Given the description of an element on the screen output the (x, y) to click on. 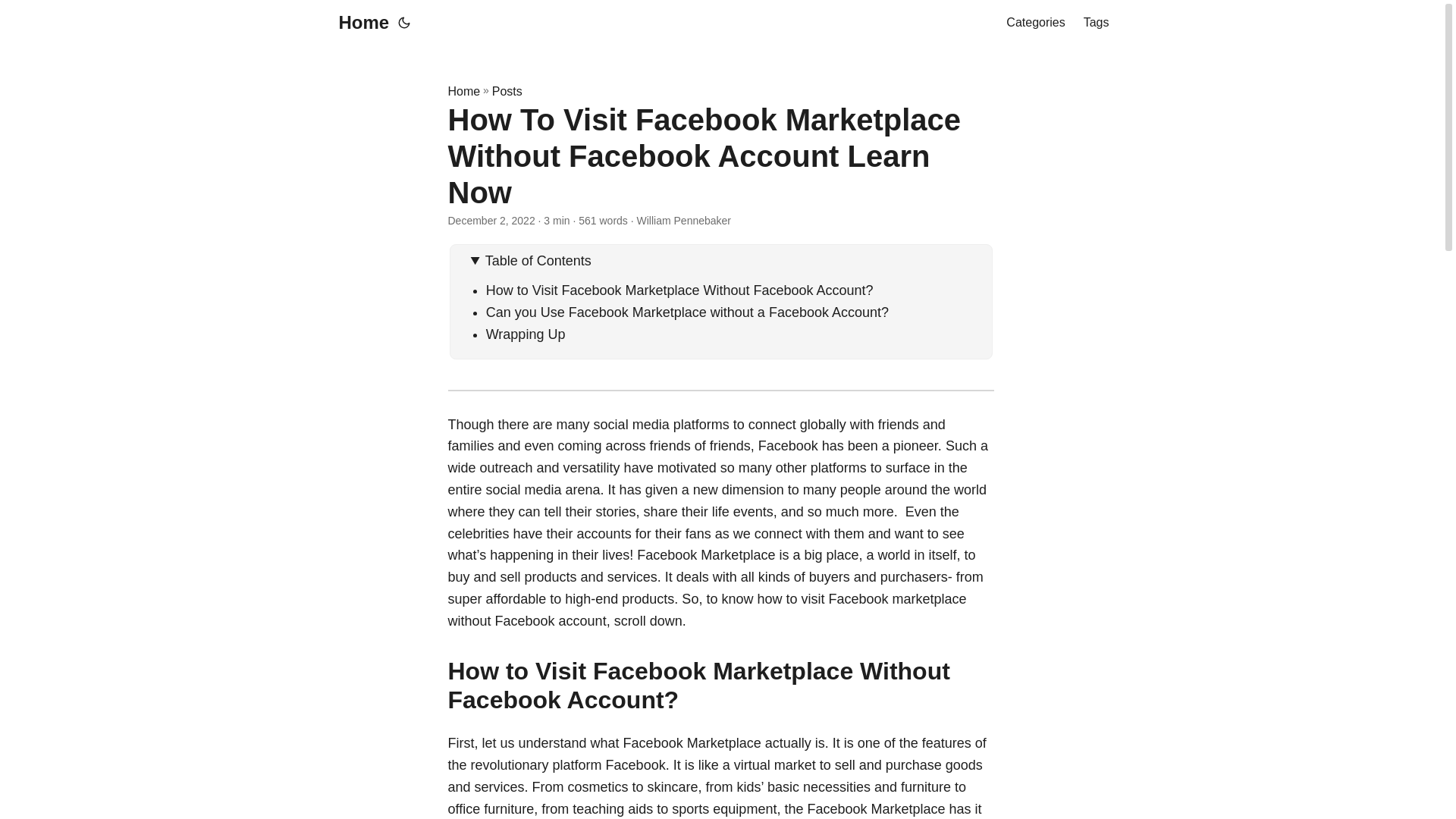
Wrapping Up (526, 334)
How to Visit Facebook Marketplace Without Facebook Account? (679, 290)
Home (359, 22)
Categories (1035, 22)
Categories (1035, 22)
Posts (507, 91)
Can you Use Facebook Marketplace without a Facebook Account? (687, 312)
Home (463, 91)
